Given the description of an element on the screen output the (x, y) to click on. 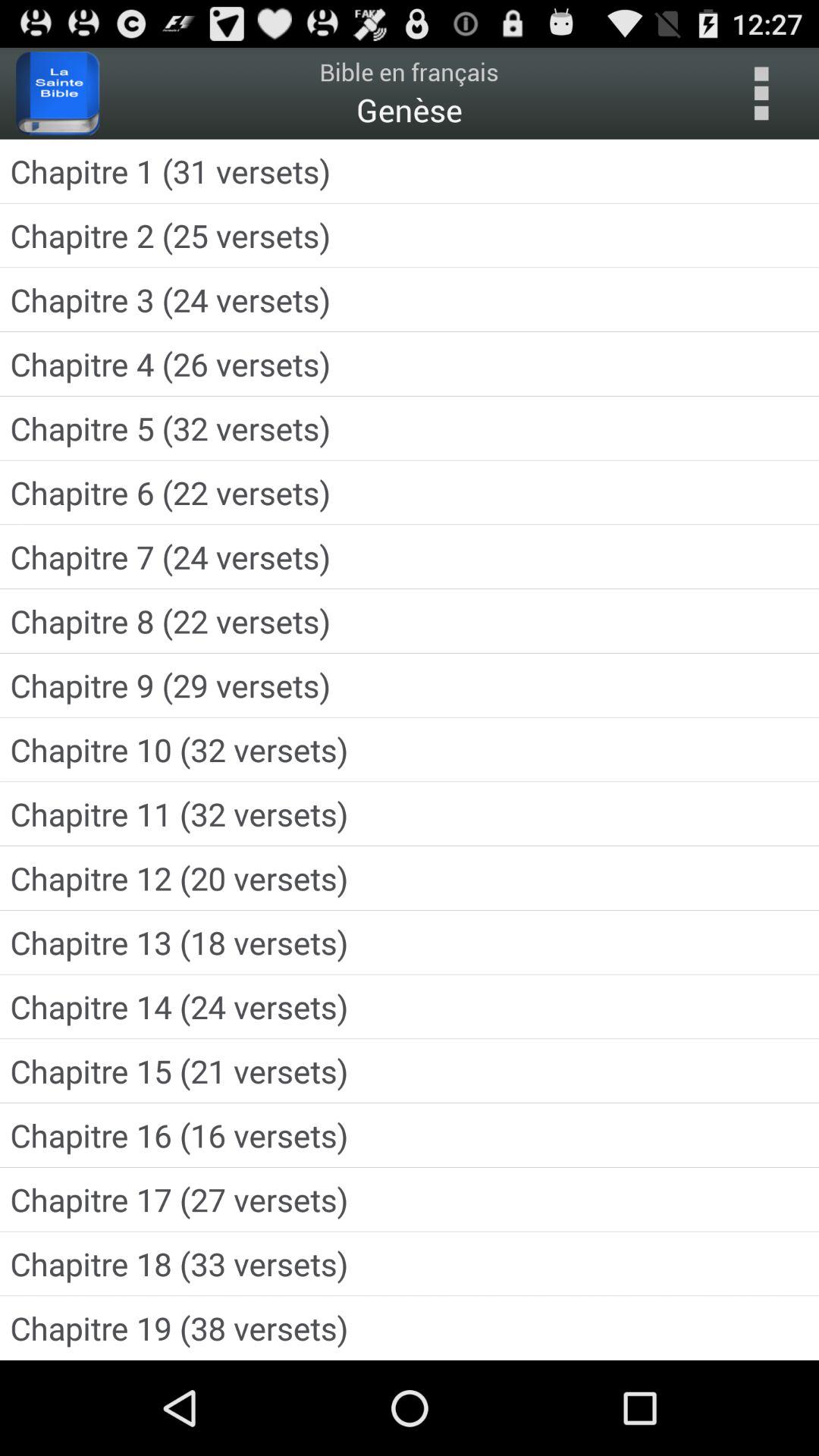
see more (761, 93)
